Given the description of an element on the screen output the (x, y) to click on. 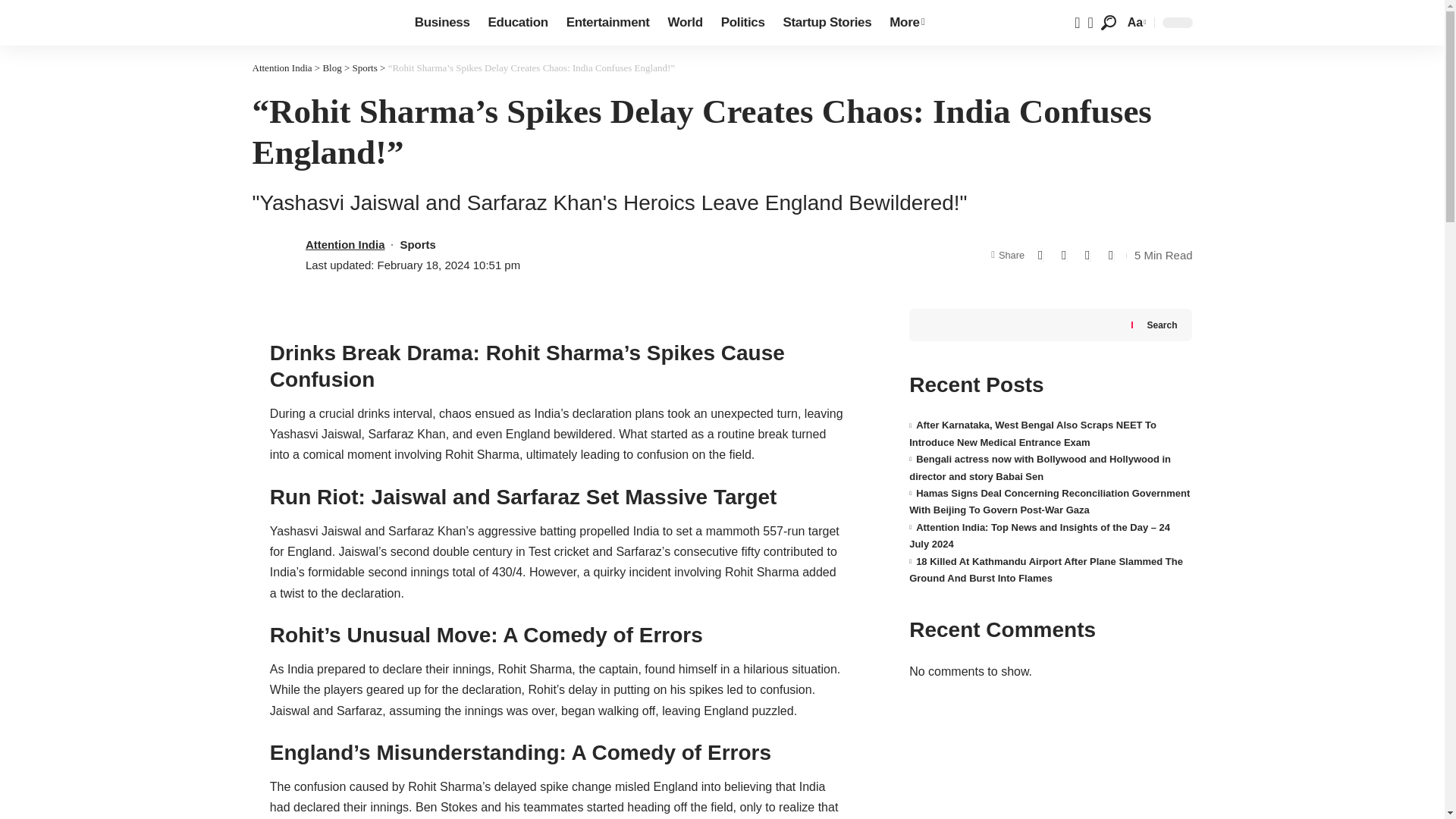
More (906, 22)
Startup Stories (827, 22)
Aa (1135, 22)
Go to Blog. (330, 67)
Politics (742, 22)
Entertainment (608, 22)
Go to the Sports Category archives. (364, 67)
Education (518, 22)
Business (442, 22)
World (685, 22)
Go to Attention India. (281, 67)
